Given the description of an element on the screen output the (x, y) to click on. 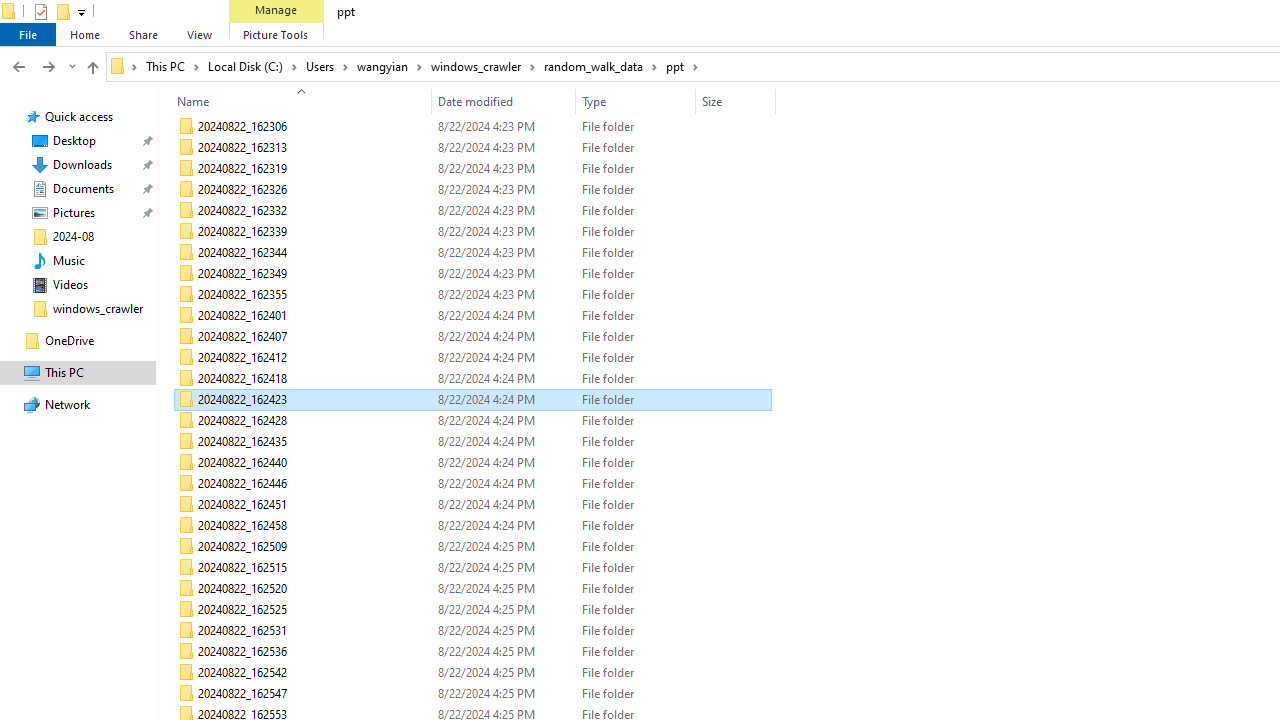
20240822_162332 (472, 210)
20240822_162451 (472, 504)
20240822_162547 (472, 693)
20240822_162428 (472, 420)
Picture Tools (275, 34)
20240822_162306 (472, 126)
Filter dropdown (767, 101)
20240822_162301 (472, 105)
File tab (28, 34)
Type (636, 101)
20240822_162525 (472, 609)
20240822_162319 (472, 168)
Navigation buttons (41, 66)
20240822_162515 (472, 567)
